Given the description of an element on the screen output the (x, y) to click on. 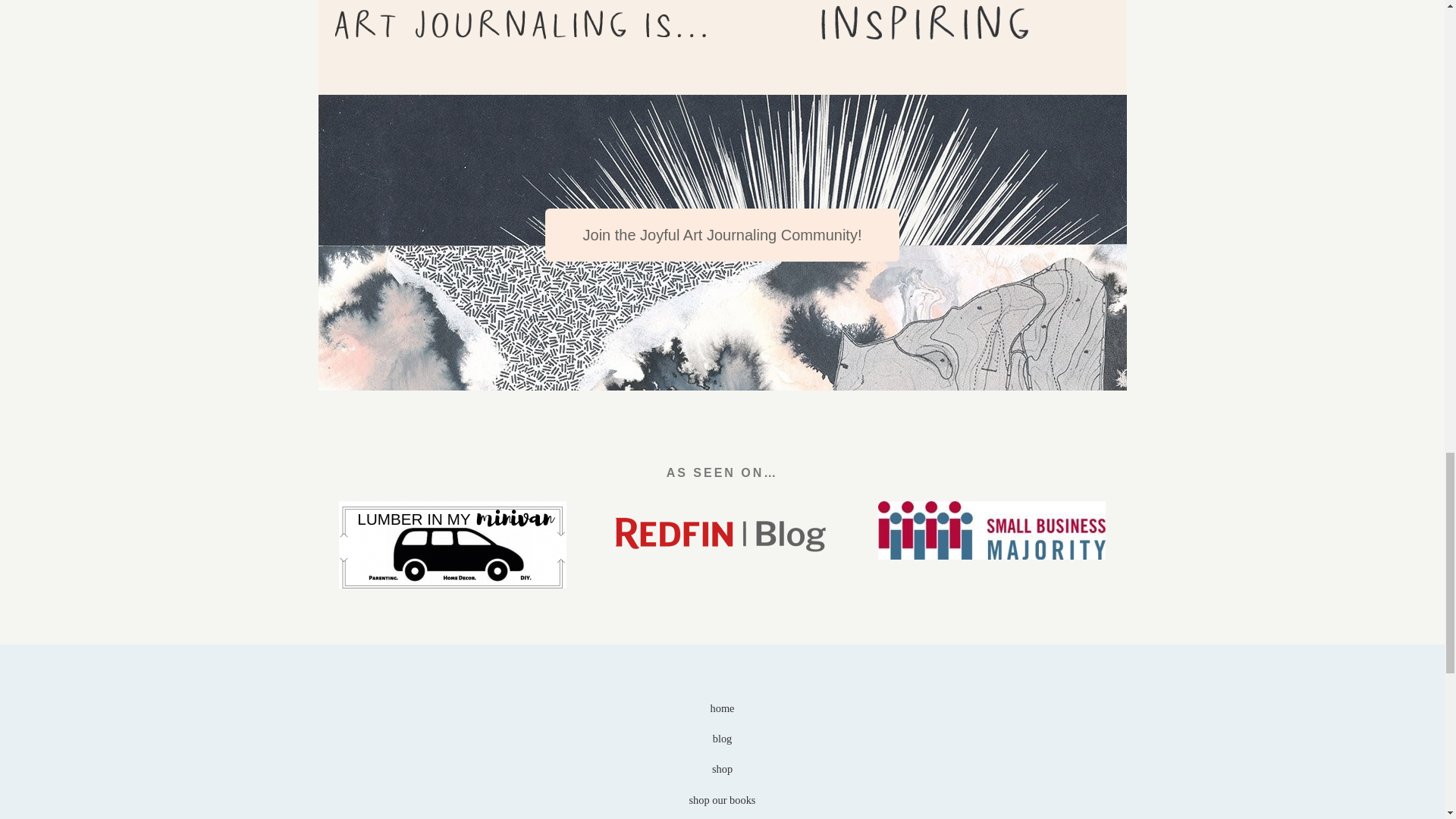
blog (722, 738)
home (721, 707)
Join the Joyful Art Journaling Community! (721, 234)
shop our books (721, 799)
shop (721, 768)
